Given the description of an element on the screen output the (x, y) to click on. 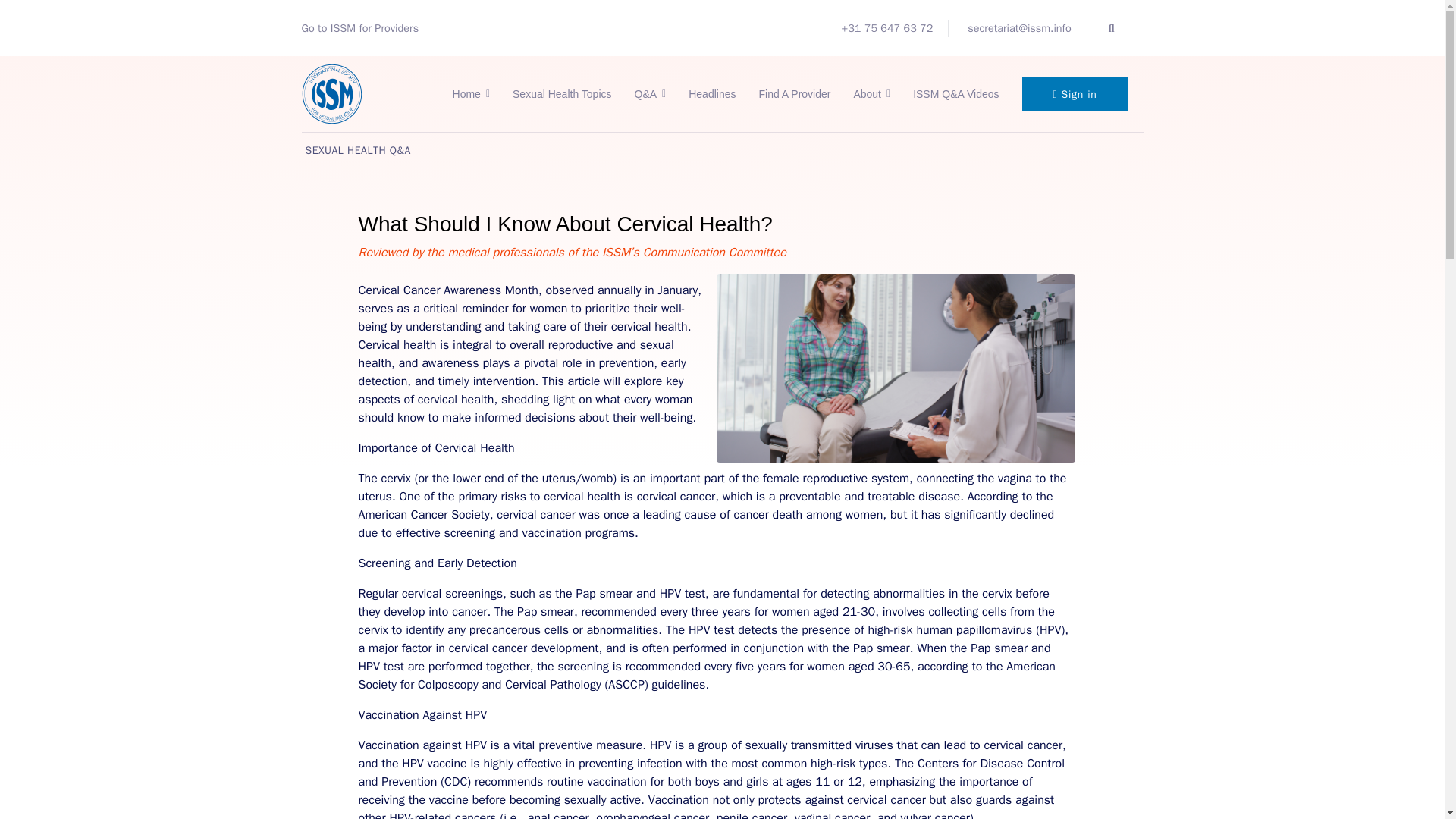
Headlines (711, 93)
Sexual Health Topics (561, 93)
Find A Provider (793, 93)
Go to ISSM for Providers (360, 28)
